Given the description of an element on the screen output the (x, y) to click on. 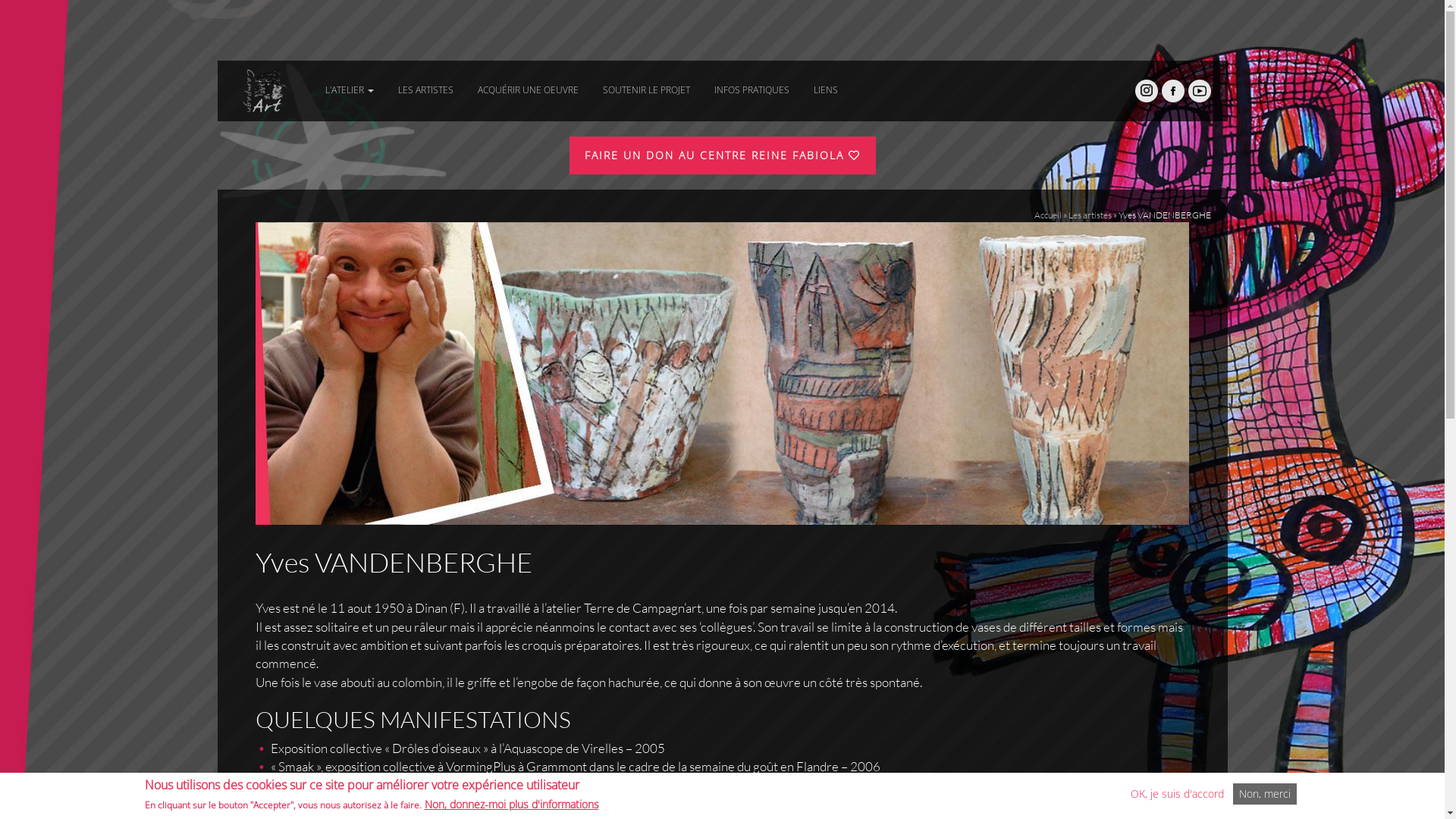
FAIRE UN DON AU CENTRE REINE FABIOLA Element type: text (721, 155)
Non, merci Element type: text (1264, 793)
INFOS PRATIQUES Element type: text (751, 81)
Les artistes Element type: text (1088, 215)
L'ATELIER Element type: text (348, 81)
LES ARTISTES Element type: text (424, 81)
LIENS Element type: text (824, 81)
OK, je suis d'accord Element type: text (1176, 793)
Accueil Element type: text (1047, 215)
Non, donnez-moi plus d'informations Element type: text (511, 804)
SOUTENIR LE PROJET Element type: text (645, 81)
Aller au contenu principal Element type: text (59, 60)
